Given the description of an element on the screen output the (x, y) to click on. 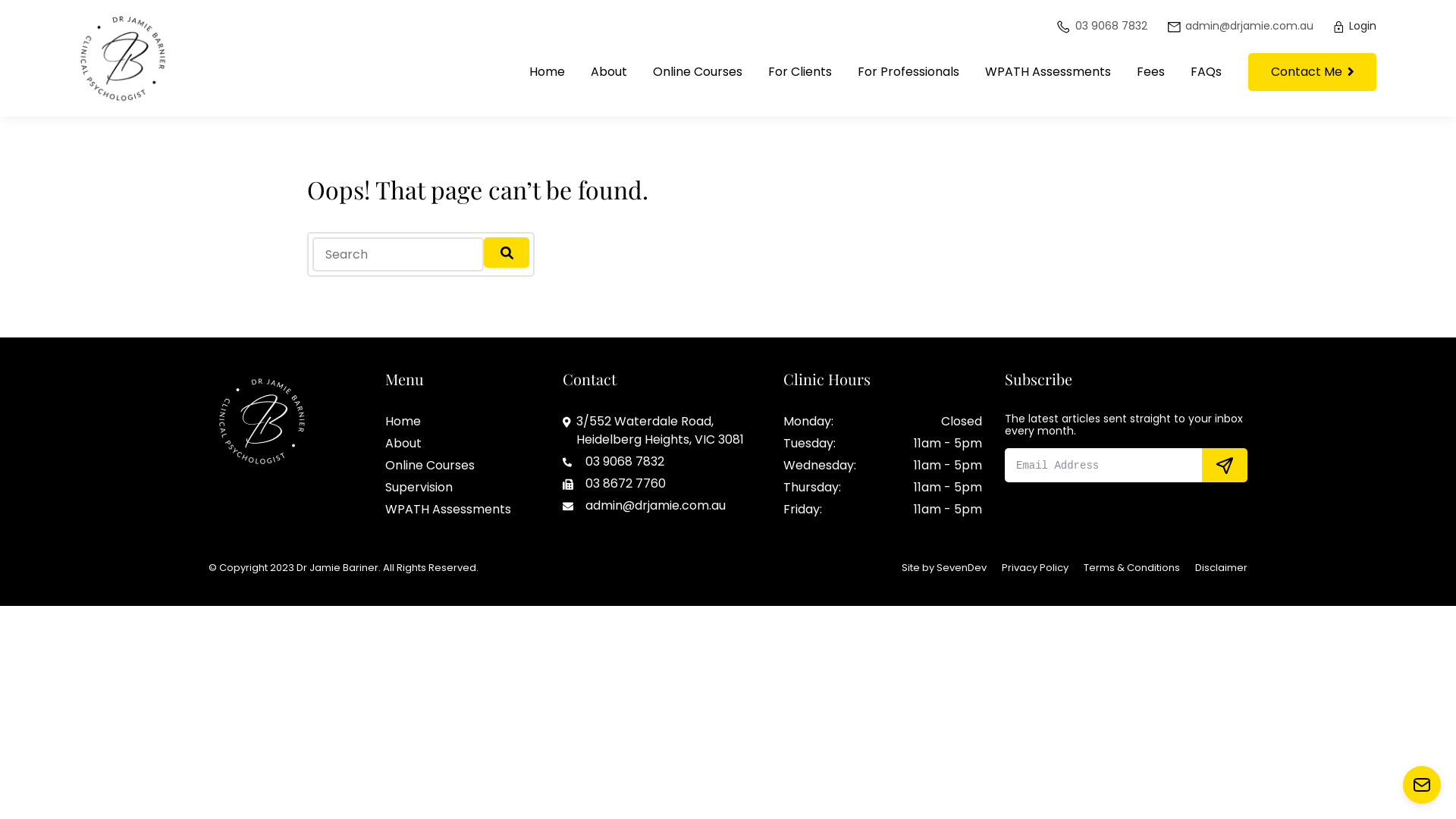
Privacy Policy Element type: text (1034, 567)
Online Courses Element type: text (697, 71)
WPATH Assessments Element type: text (1047, 71)
Disclaimer Element type: text (1221, 567)
Fees Element type: text (1150, 71)
Contact Me Element type: text (1312, 72)
FAQs Element type: text (1206, 71)
Online Courses Element type: text (429, 465)
Supervision Element type: text (418, 487)
Site by SevenDev Element type: text (943, 567)
For Clients Element type: text (799, 71)
Login Element type: text (1353, 25)
WPATH Assessments Element type: text (448, 509)
Home Element type: text (546, 71)
About Element type: text (608, 71)
For Professionals Element type: text (908, 71)
Home Element type: text (402, 421)
Terms & Conditions Element type: text (1131, 567)
About Element type: text (403, 443)
